Given the description of an element on the screen output the (x, y) to click on. 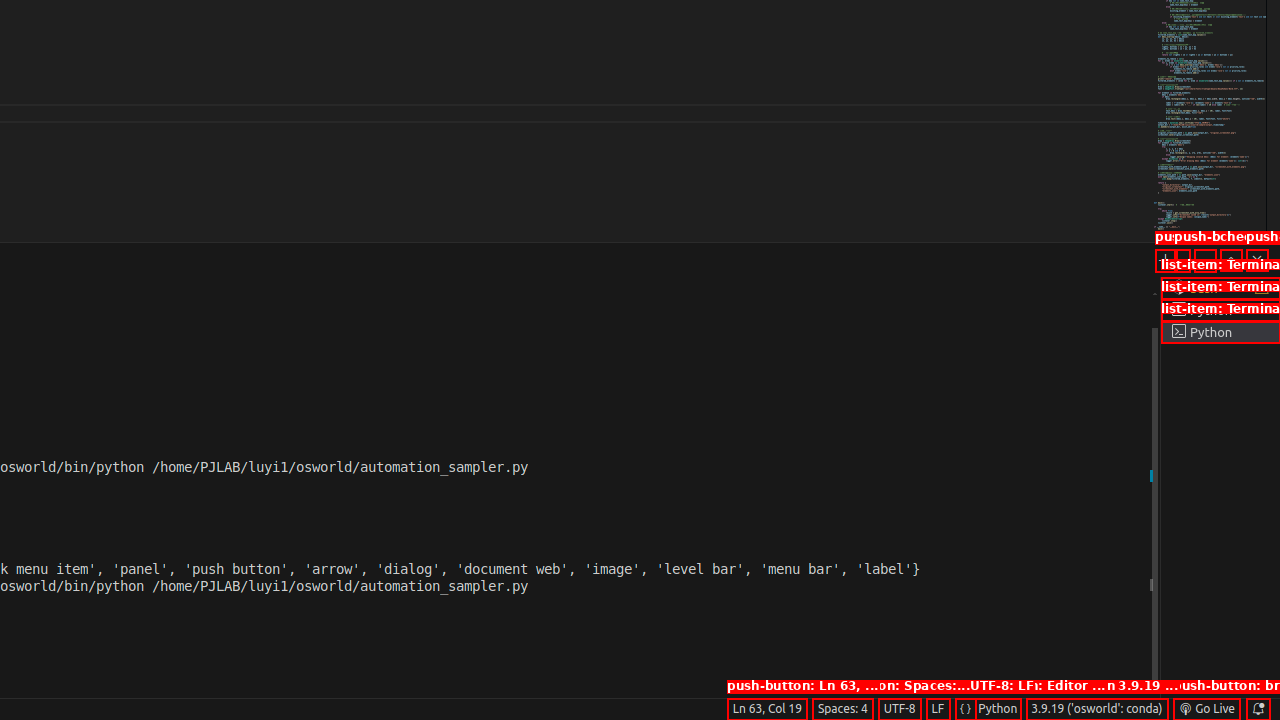
Notifications Element type: push-button (1258, 709)
Views and More Actions... Element type: push-button (1205, 260)
